Given the description of an element on the screen output the (x, y) to click on. 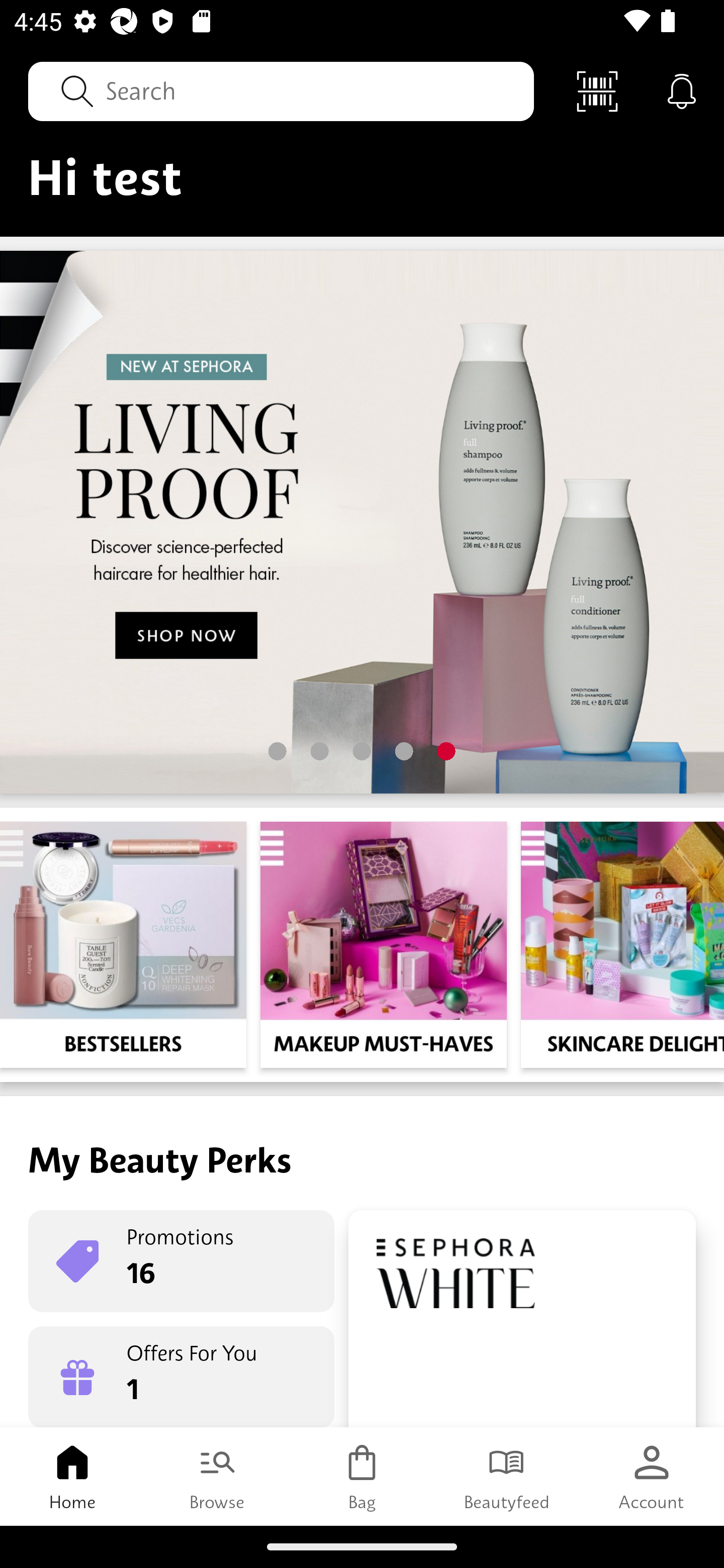
Scan Code (597, 90)
Notifications (681, 90)
Search (281, 90)
Promotions 16 (181, 1261)
Rewards Boutique 90 Pts (521, 1318)
Offers For You 1 (181, 1376)
Browse (216, 1475)
Bag (361, 1475)
Beautyfeed (506, 1475)
Account (651, 1475)
